Given the description of an element on the screen output the (x, y) to click on. 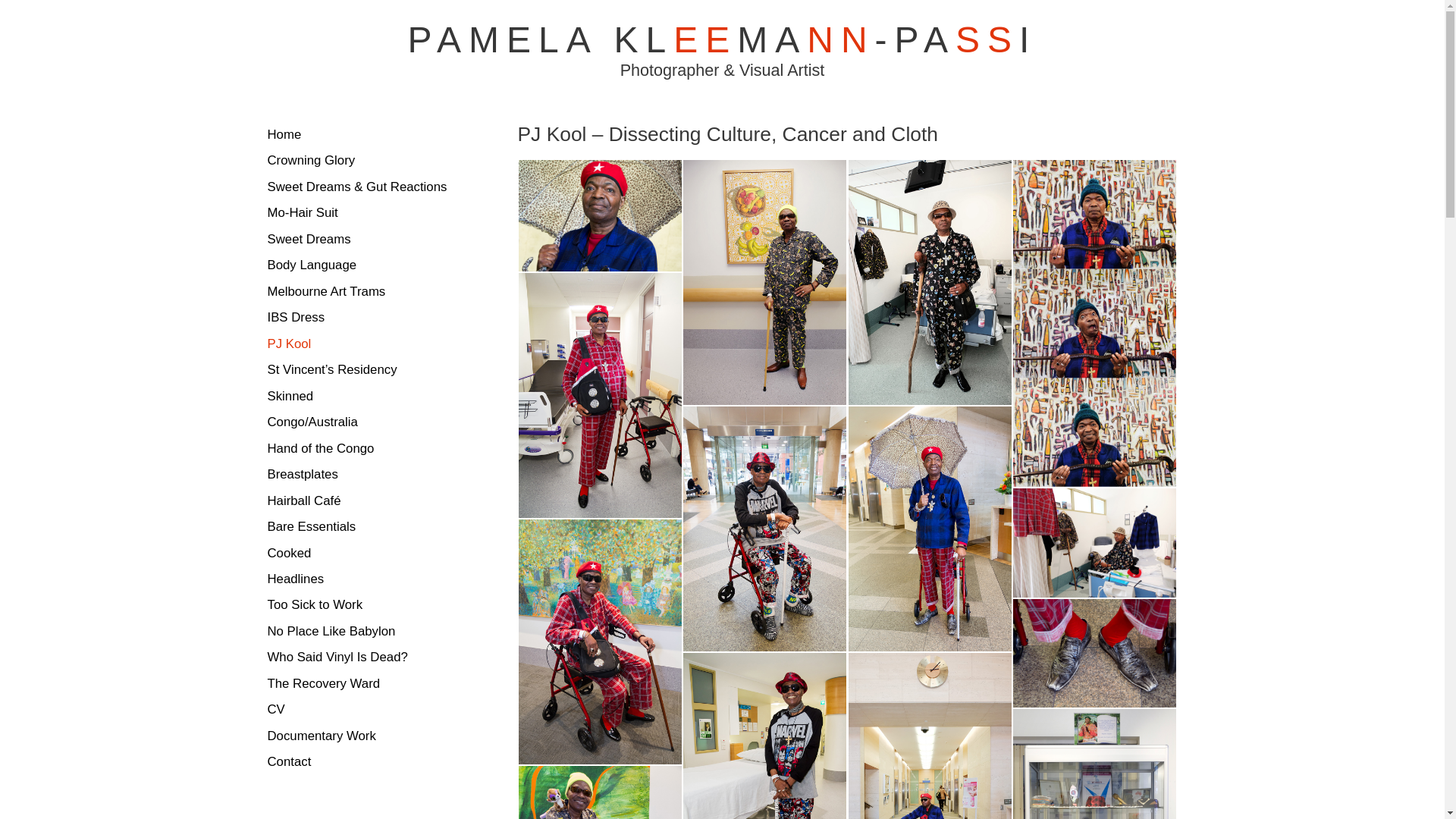
No Place Like Babylon Element type: text (361, 631)
Home Element type: text (361, 134)
PJ Kool Element type: text (361, 344)
Singing In The Frame Element type: hover (928, 645)
Bananas On Pyjamas Element type: hover (764, 399)
Crowning Glory Element type: text (361, 160)
IBS Dress Element type: text (361, 317)
The Recovery Ward Element type: text (361, 683)
Bare Essentials Element type: text (361, 526)
Monkey Business Suit Element type: hover (928, 399)
Melbourne Art Trams Element type: text (361, 291)
Headlines Element type: text (361, 579)
Red Suited Super Man Element type: hover (599, 512)
Body Language Element type: text (361, 265)
Who Said Vinyl Is Dead? Element type: text (361, 657)
Too Sick to Work Element type: text (361, 605)
Cooked Element type: text (361, 553)
Sweet Dreams Element type: text (361, 239)
Hand of the Congo Element type: text (361, 448)
Congo/Australia Element type: text (361, 422)
Skinned Element type: text (361, 396)
Contact Element type: text (361, 762)
Sweet Dreams & Gut Reactions Element type: text (361, 187)
Documentary Work Element type: text (361, 736)
Monsieur Marvel(lous) 1 Element type: hover (764, 645)
CV Element type: text (361, 709)
Breastplates Element type: text (361, 474)
Mo-Hair Suit Element type: text (361, 212)
Brown Eyed Handsome Man Element type: hover (599, 265)
A Walk In The Park Element type: hover (599, 758)
